Given the description of an element on the screen output the (x, y) to click on. 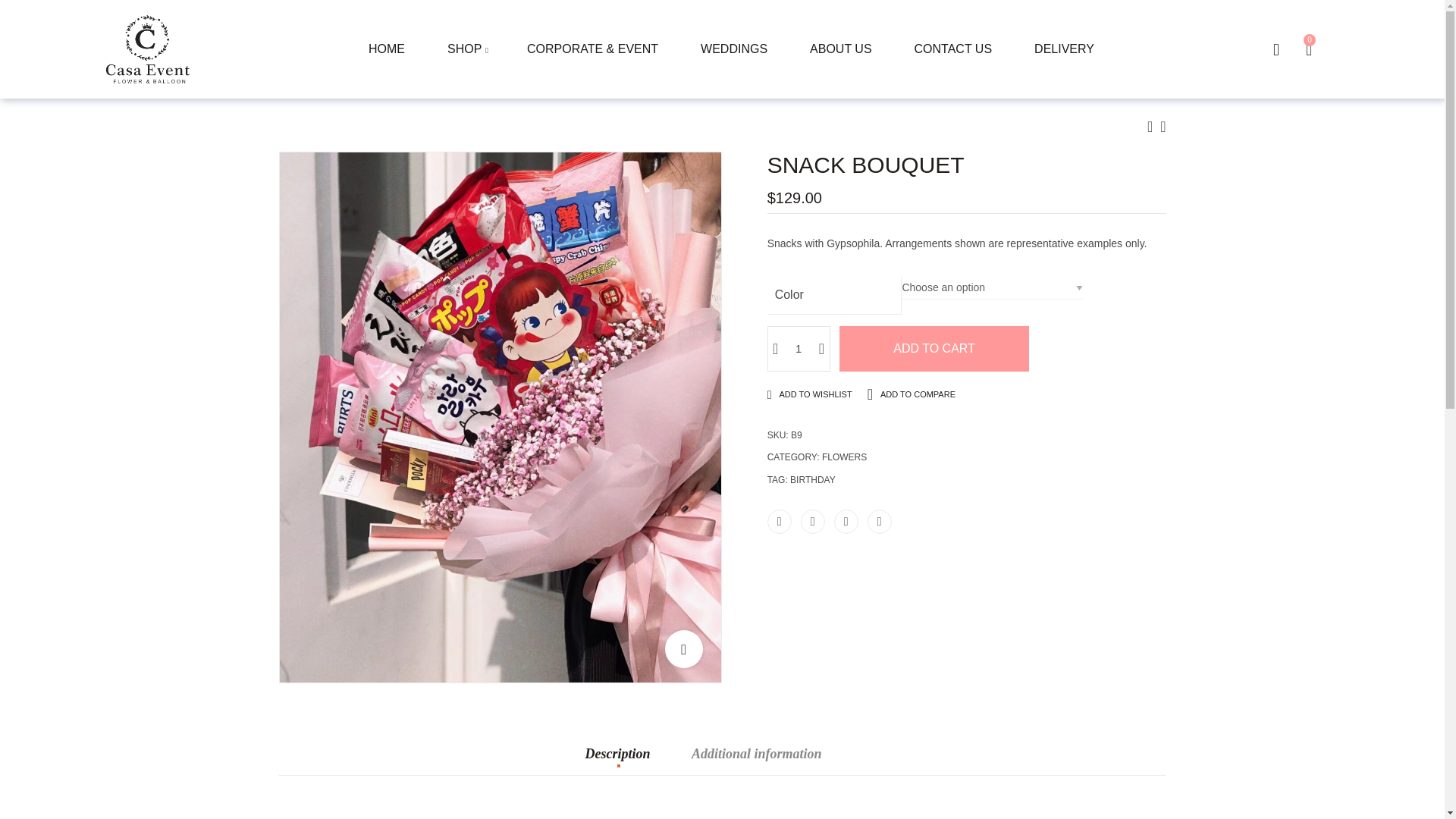
0 (1308, 48)
Share this post on Pinterest (846, 521)
Add to compare (914, 394)
1 (798, 348)
Share this post on Twitter (812, 521)
SHOP (465, 49)
CONTACT US (953, 49)
Share this post on Facebook (779, 521)
Qty (798, 348)
WEDDINGS (734, 49)
HOME (386, 49)
I Love You (1163, 125)
Add to wishlist (813, 395)
DELIVERY (1064, 49)
